Given the description of an element on the screen output the (x, y) to click on. 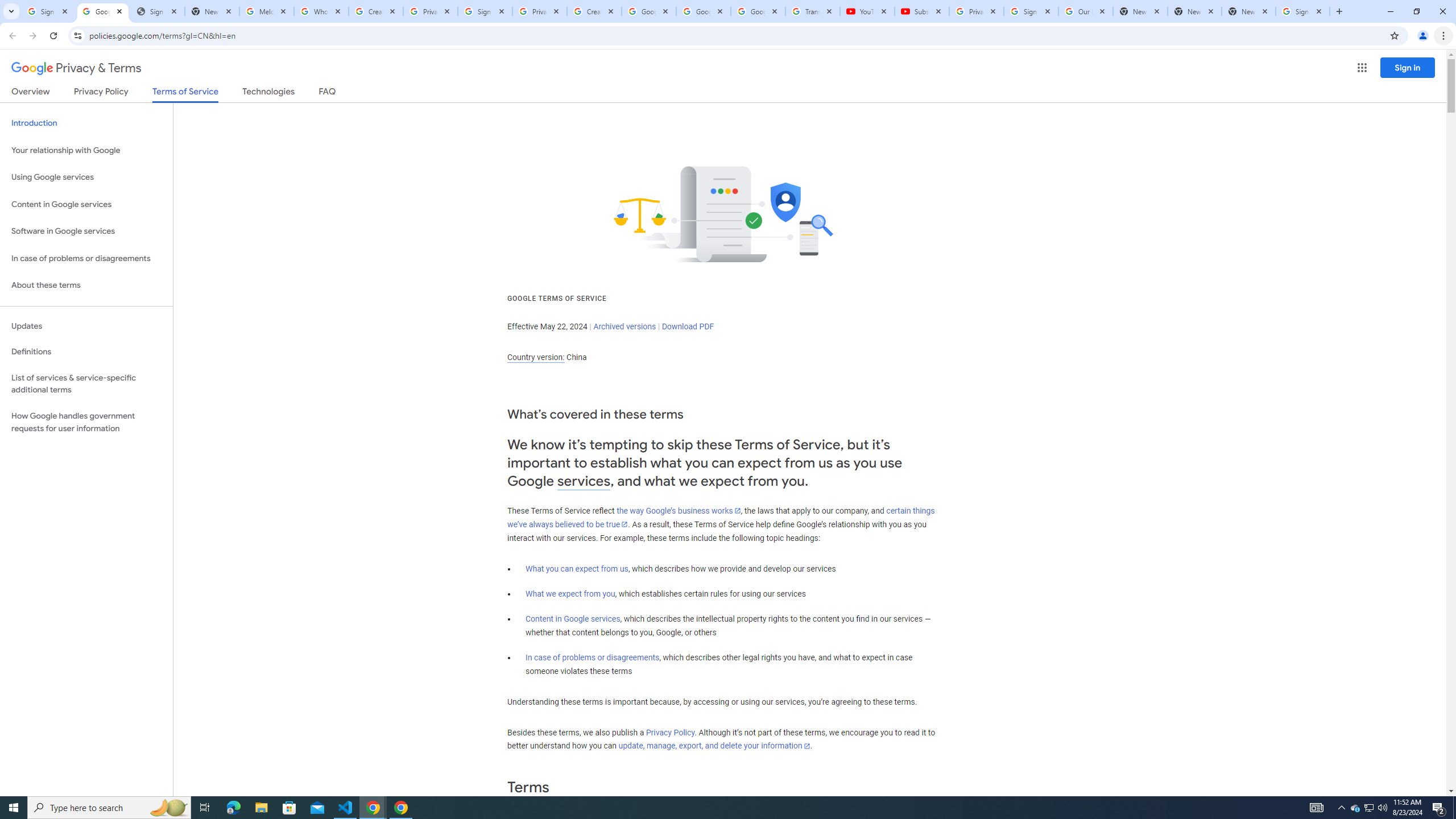
Updates (86, 325)
How Google handles government requests for user information (86, 422)
services (583, 480)
Reload (52, 35)
update, manage, export, and delete your information (714, 746)
FAQ (327, 93)
View site information (77, 35)
Overview (30, 93)
Technologies (268, 93)
Chrome (1445, 35)
Restore (1416, 11)
Google Account (757, 11)
Sign In - USA TODAY (157, 11)
